Given the description of an element on the screen output the (x, y) to click on. 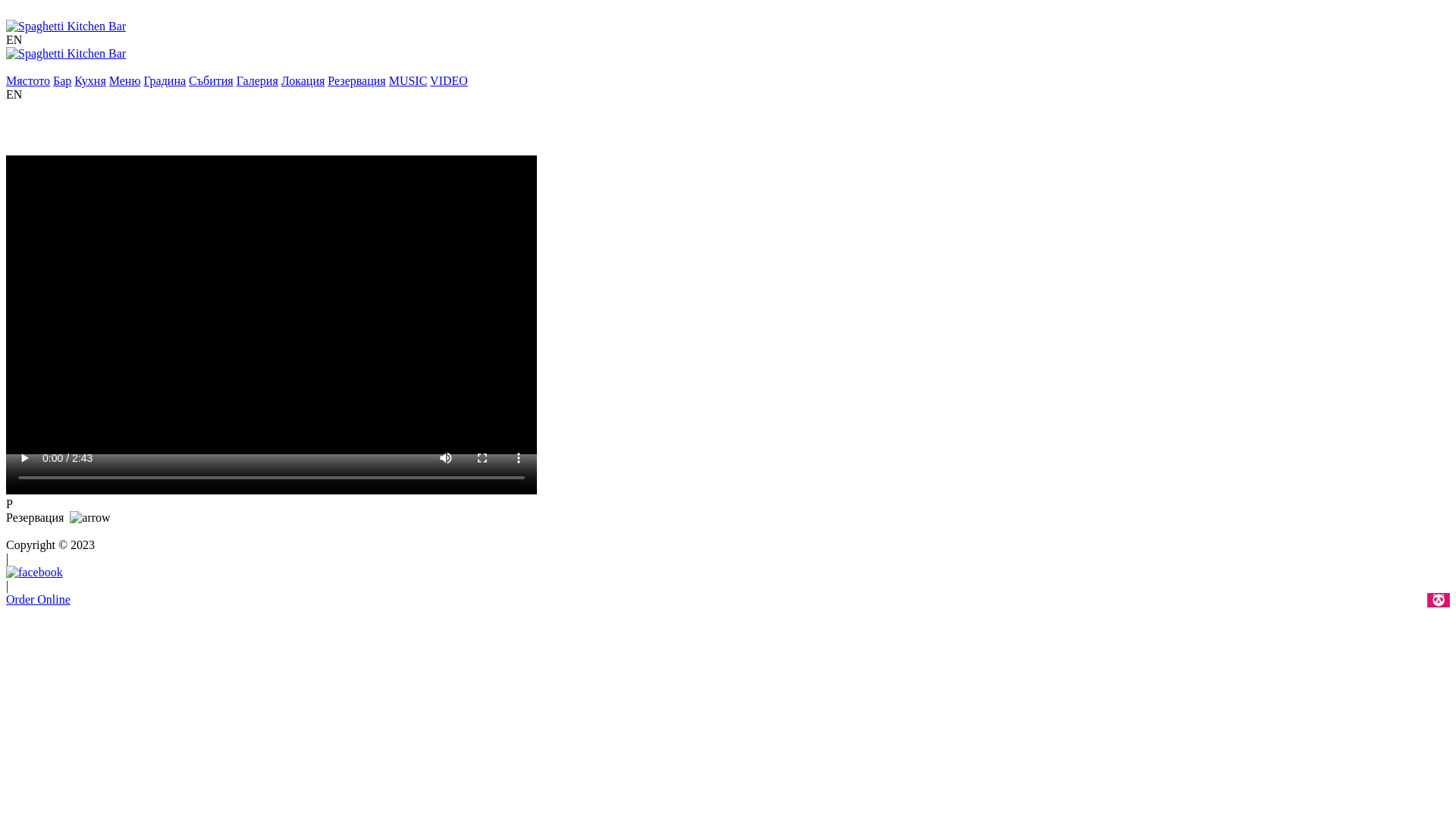
VIDEO Element type: text (448, 80)
EN Element type: text (13, 39)
EN Element type: text (13, 93)
Order Online Element type: text (38, 599)
MUSIC Element type: text (408, 80)
SPAGHETTI KITCHEN Element type: text (66, 530)
